Given the description of an element on the screen output the (x, y) to click on. 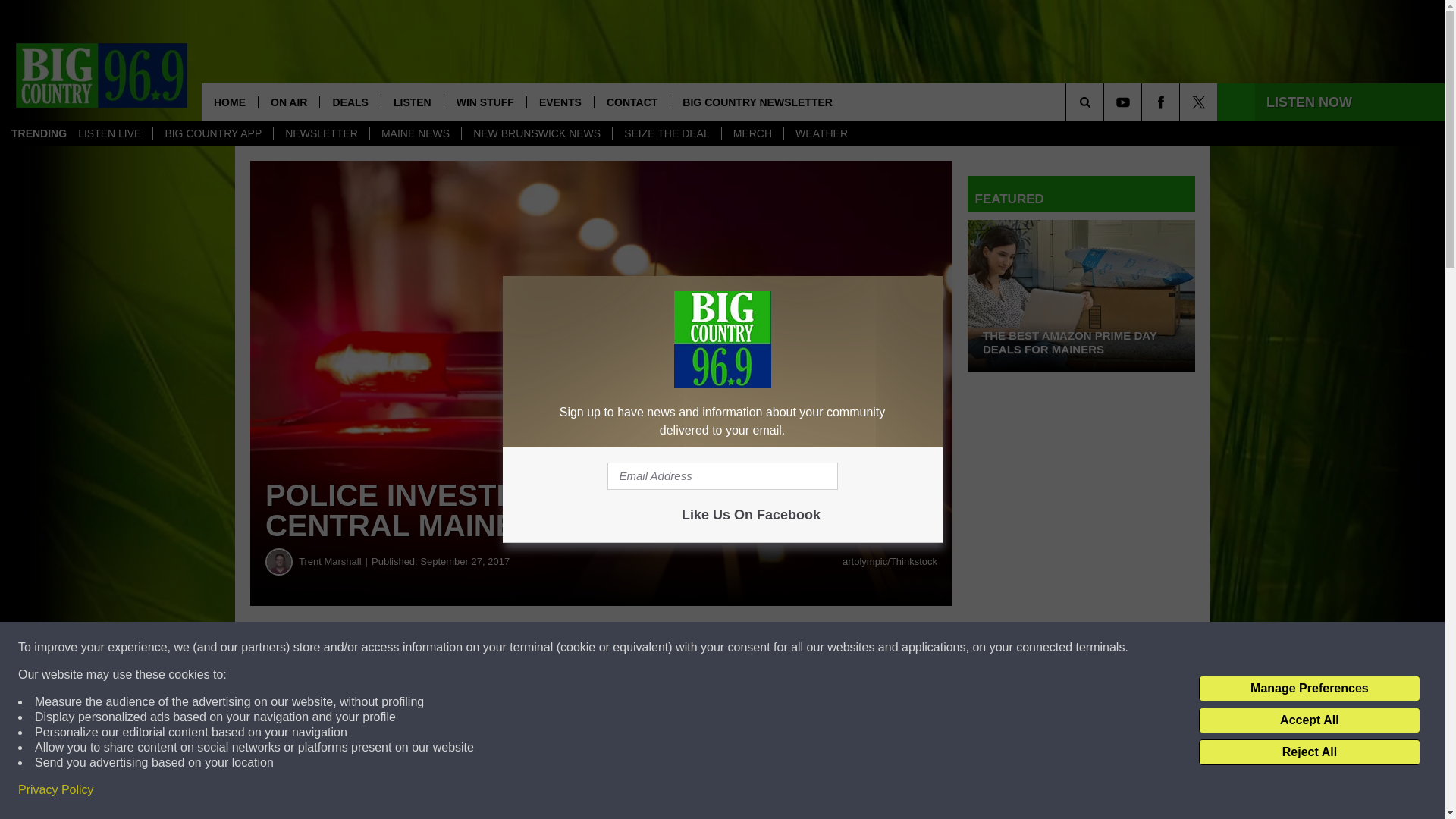
WEATHER (821, 133)
Manage Preferences (1309, 688)
MAINE NEWS (415, 133)
SEARCH (1106, 102)
Reject All (1309, 751)
DEALS (349, 102)
WIN STUFF (484, 102)
NEW BRUNSWICK NEWS (536, 133)
LISTEN (412, 102)
SEIZE THE DEAL (665, 133)
Email Address (722, 475)
LISTEN LIVE (109, 133)
HOME (229, 102)
Privacy Policy (55, 789)
CONTACT (631, 102)
